Given the description of an element on the screen output the (x, y) to click on. 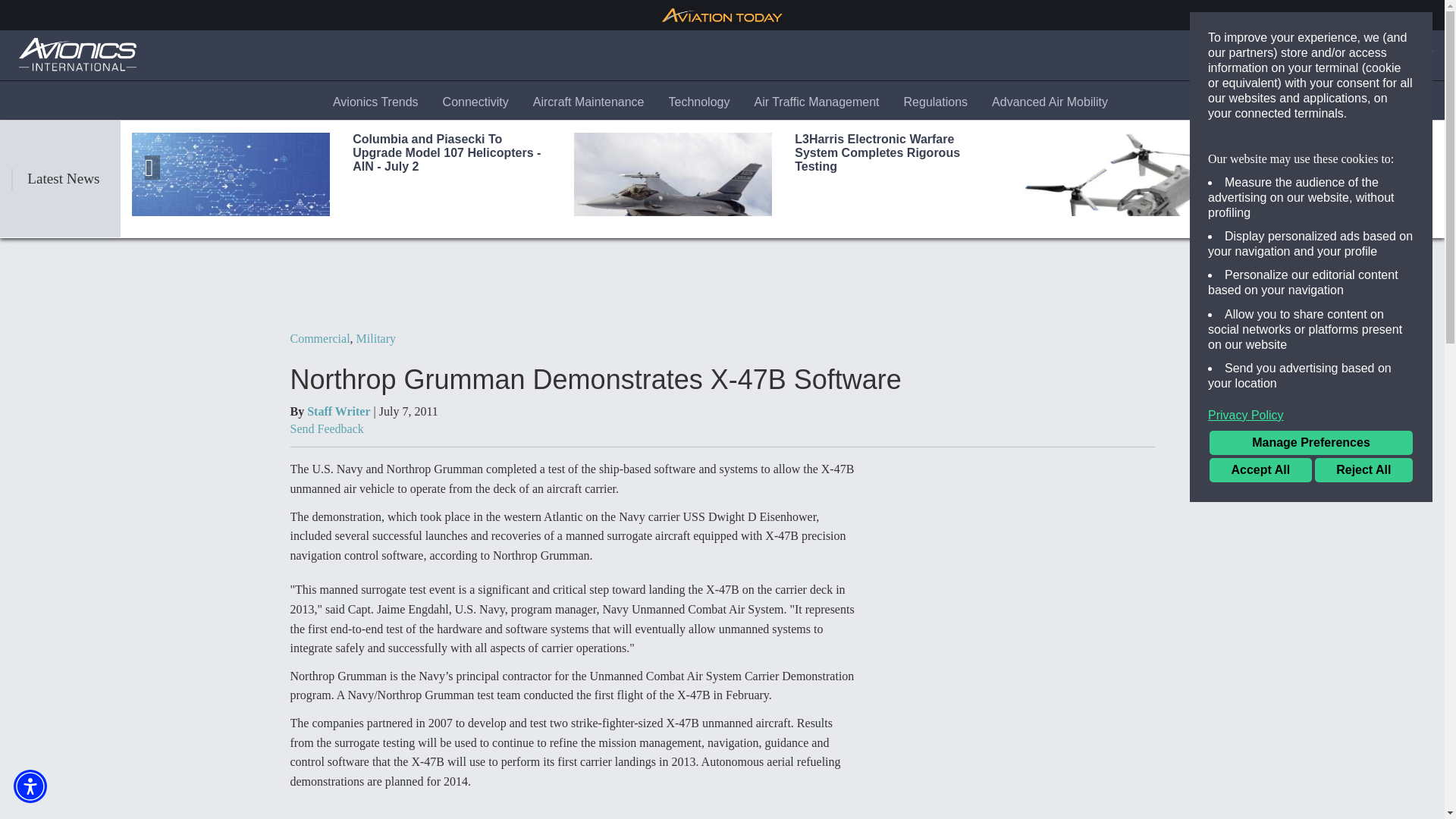
3rd party ad content (722, 284)
Subscribe (1342, 55)
Privacy Policy (1310, 415)
Reject All (1363, 469)
3rd party ad content (1017, 554)
Search (1274, 55)
Accessibility Menu (29, 786)
Accept All (1260, 469)
Manage Preferences (1310, 442)
